Given the description of an element on the screen output the (x, y) to click on. 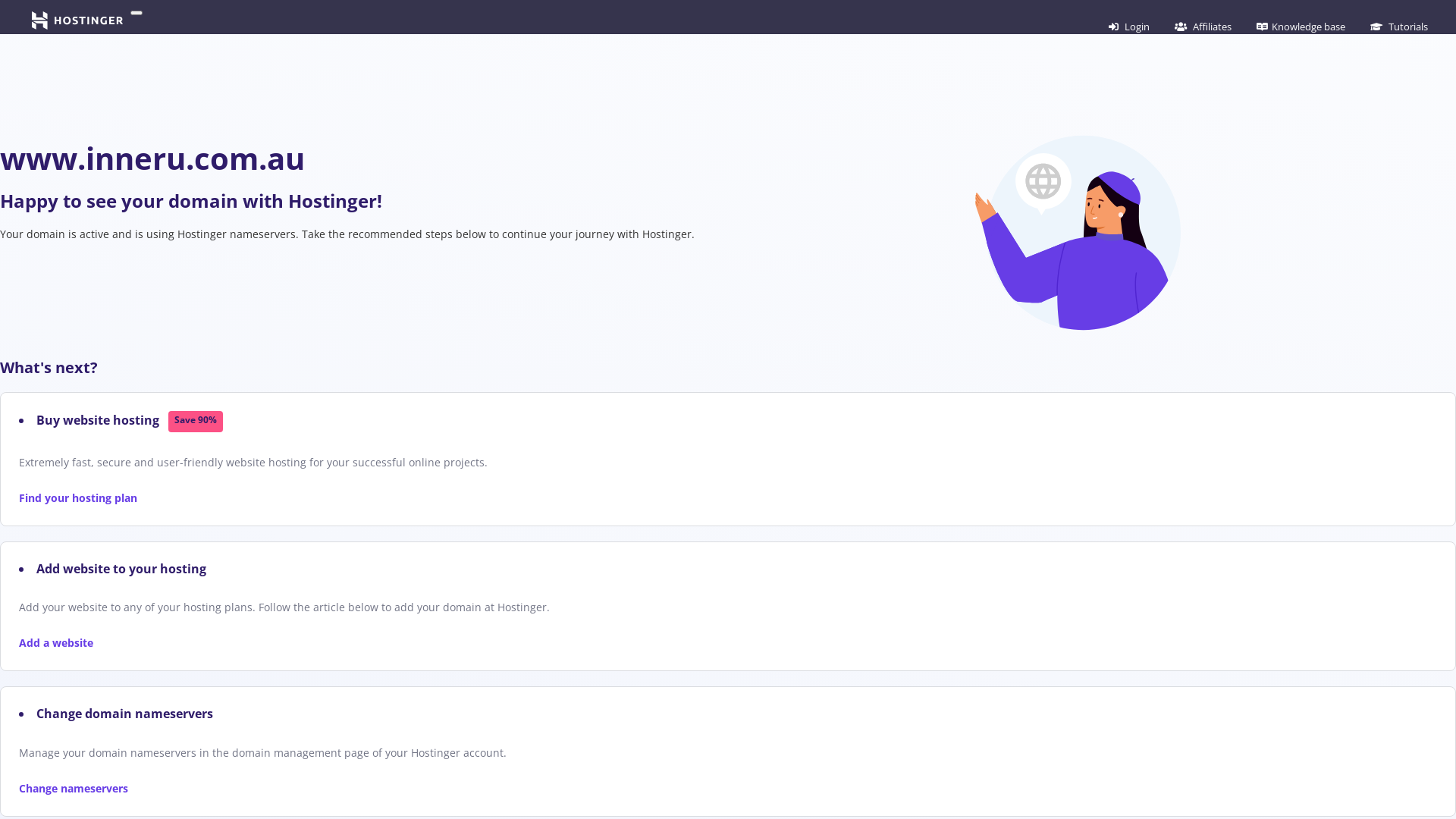
Knowledge base Element type: text (1300, 26)
Find your hosting plan Element type: text (77, 497)
Add a website Element type: text (55, 642)
Login Element type: text (1128, 26)
Tutorials Element type: text (1398, 26)
Change nameservers Element type: text (73, 788)
Affiliates Element type: text (1202, 26)
